Given the description of an element on the screen output the (x, y) to click on. 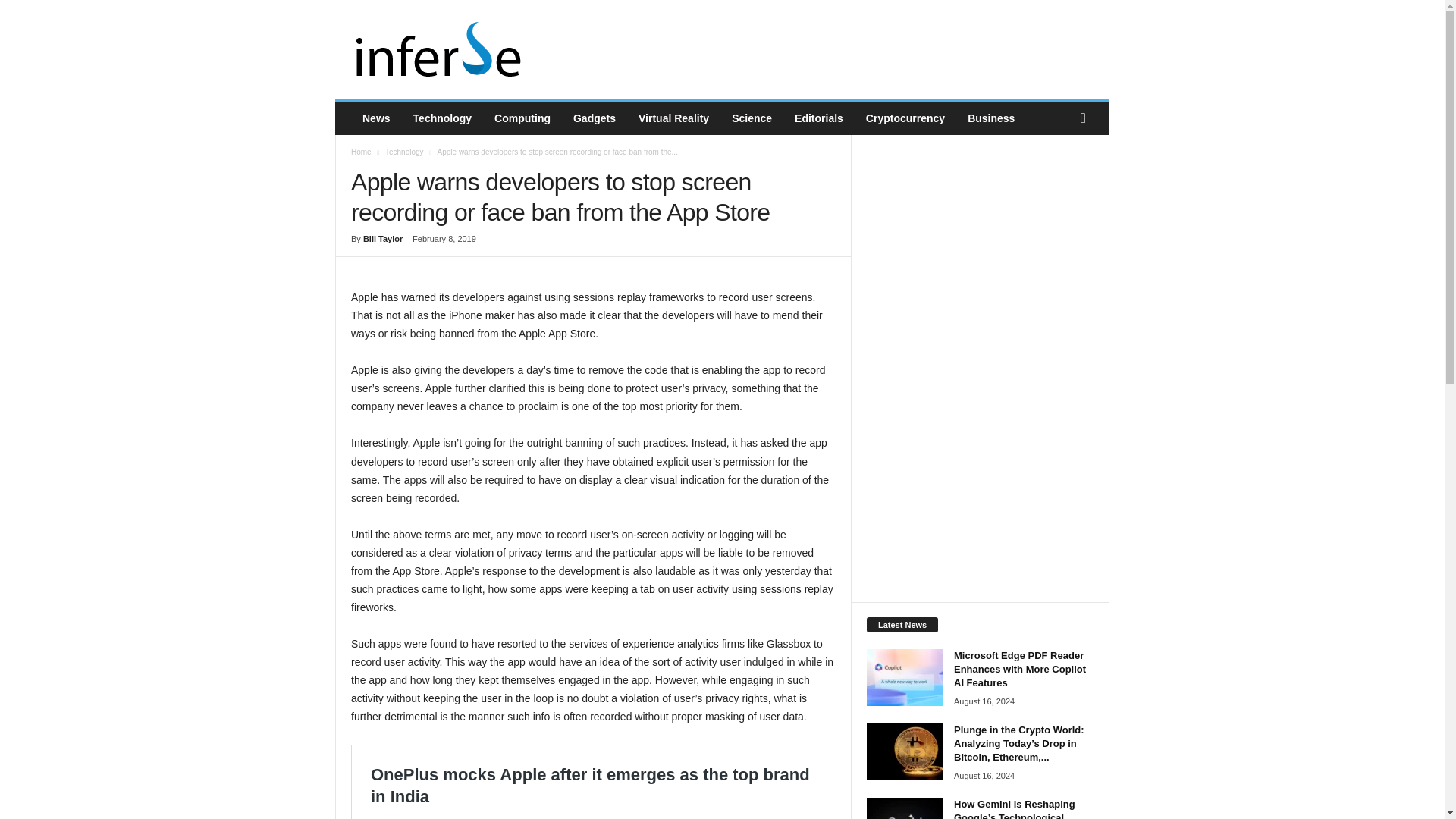
Gadgets (594, 118)
News (375, 118)
Home (360, 152)
Technology (442, 118)
Business (991, 118)
Editorials (818, 118)
Bill Taylor (382, 238)
Technology (404, 152)
View all posts in Technology (404, 152)
Inferse.com (437, 48)
